Given the description of an element on the screen output the (x, y) to click on. 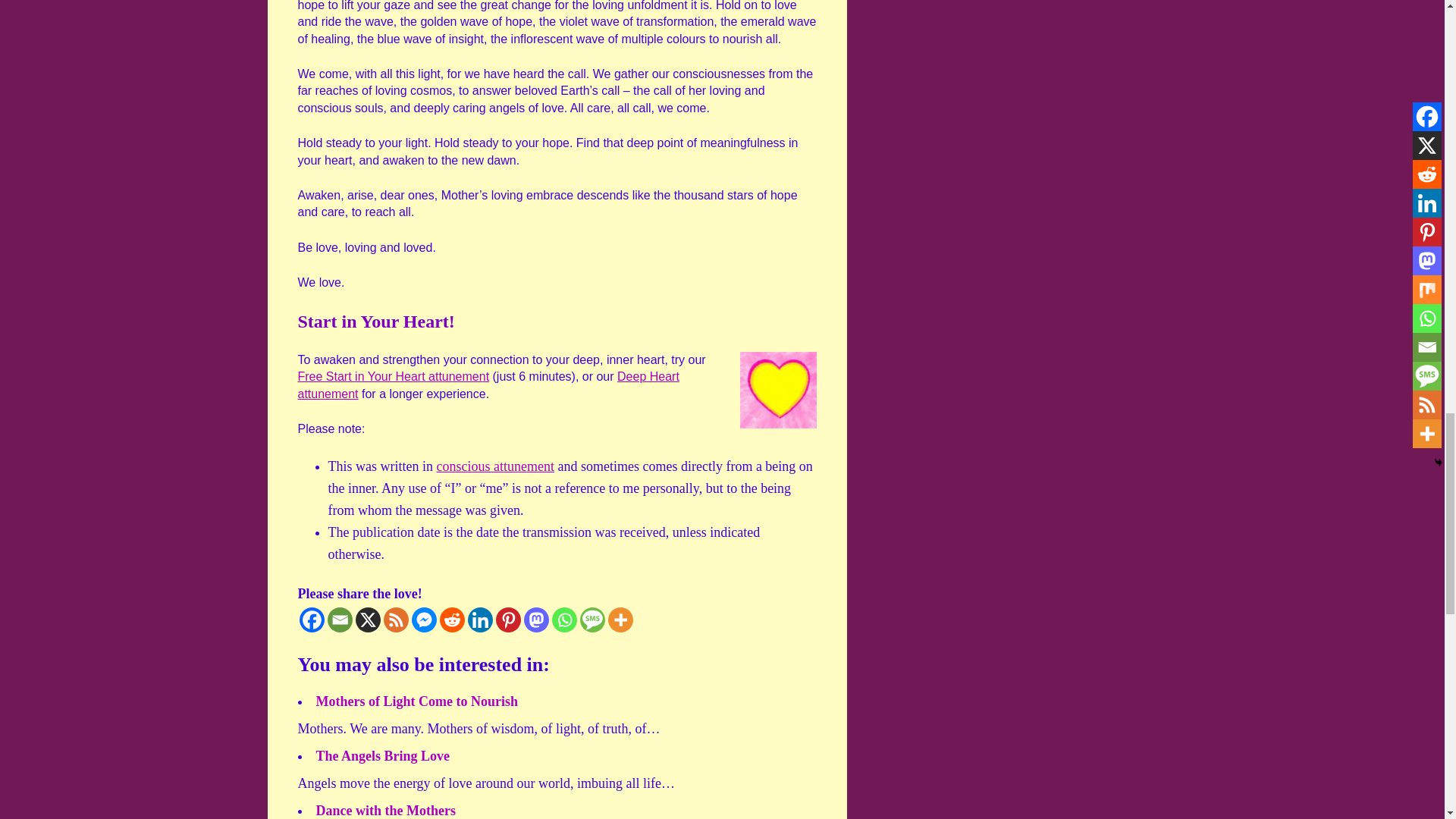
Whatsapp (563, 619)
Facebook (310, 619)
Reddit (451, 619)
Free Start in Your Heart attunement (393, 376)
More (620, 619)
SMS (591, 619)
Email (339, 619)
Pinterest (508, 619)
RSS Feed (396, 619)
Linkedin (479, 619)
